Given the description of an element on the screen output the (x, y) to click on. 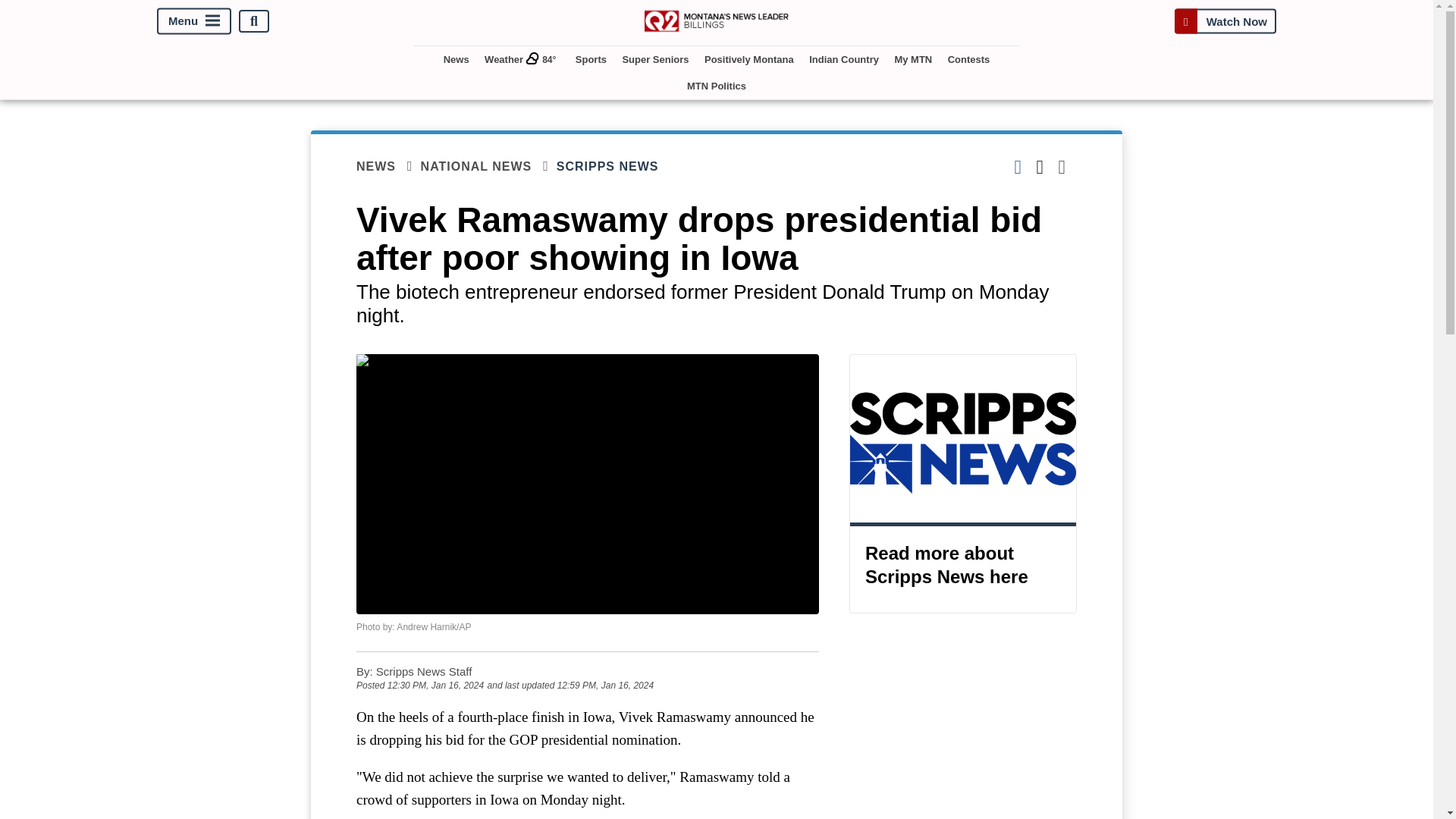
Menu (194, 21)
Watch Now (1224, 21)
